Given the description of an element on the screen output the (x, y) to click on. 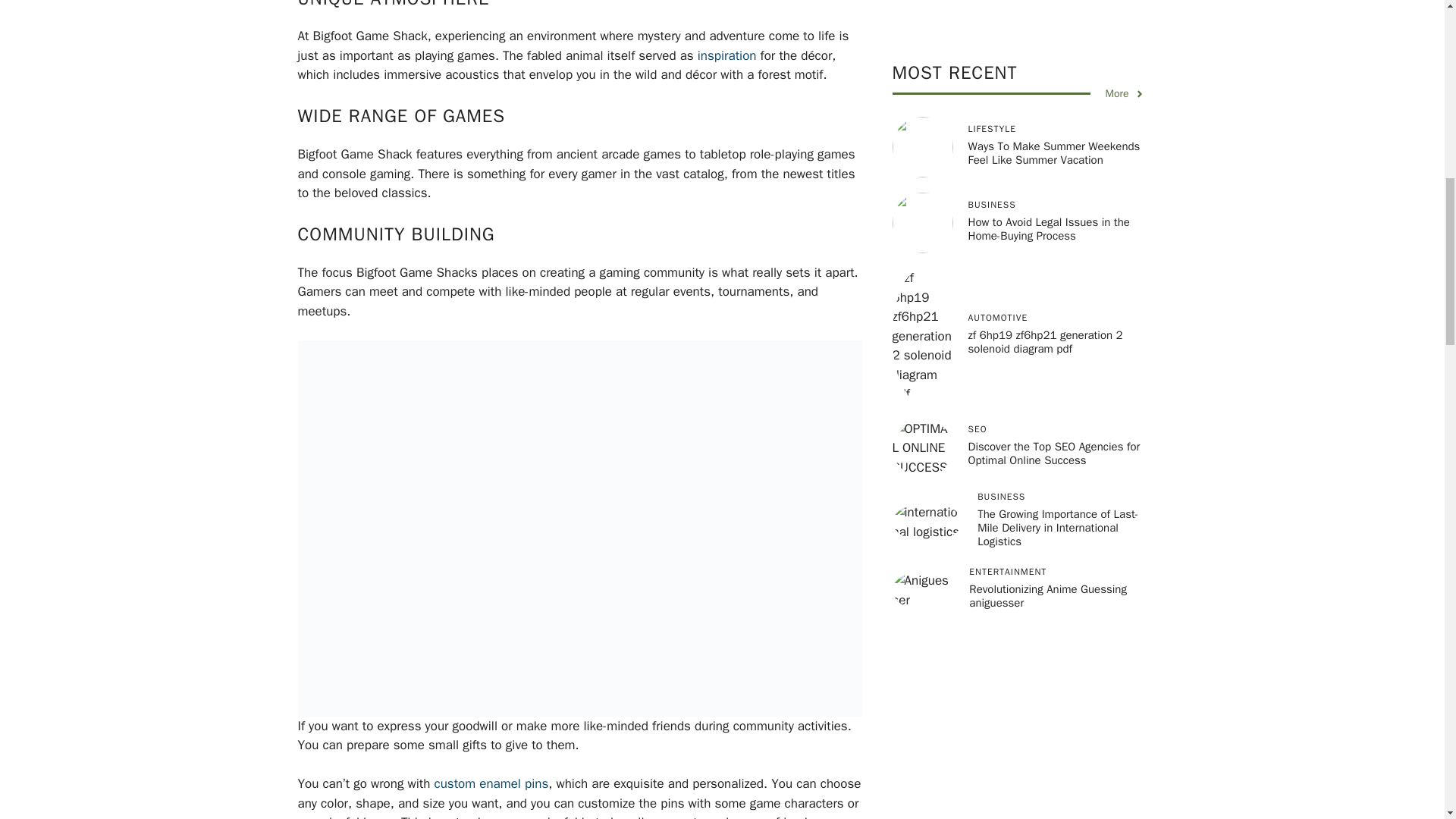
inspiration (727, 55)
custom enamel pins (490, 783)
